Given the description of an element on the screen output the (x, y) to click on. 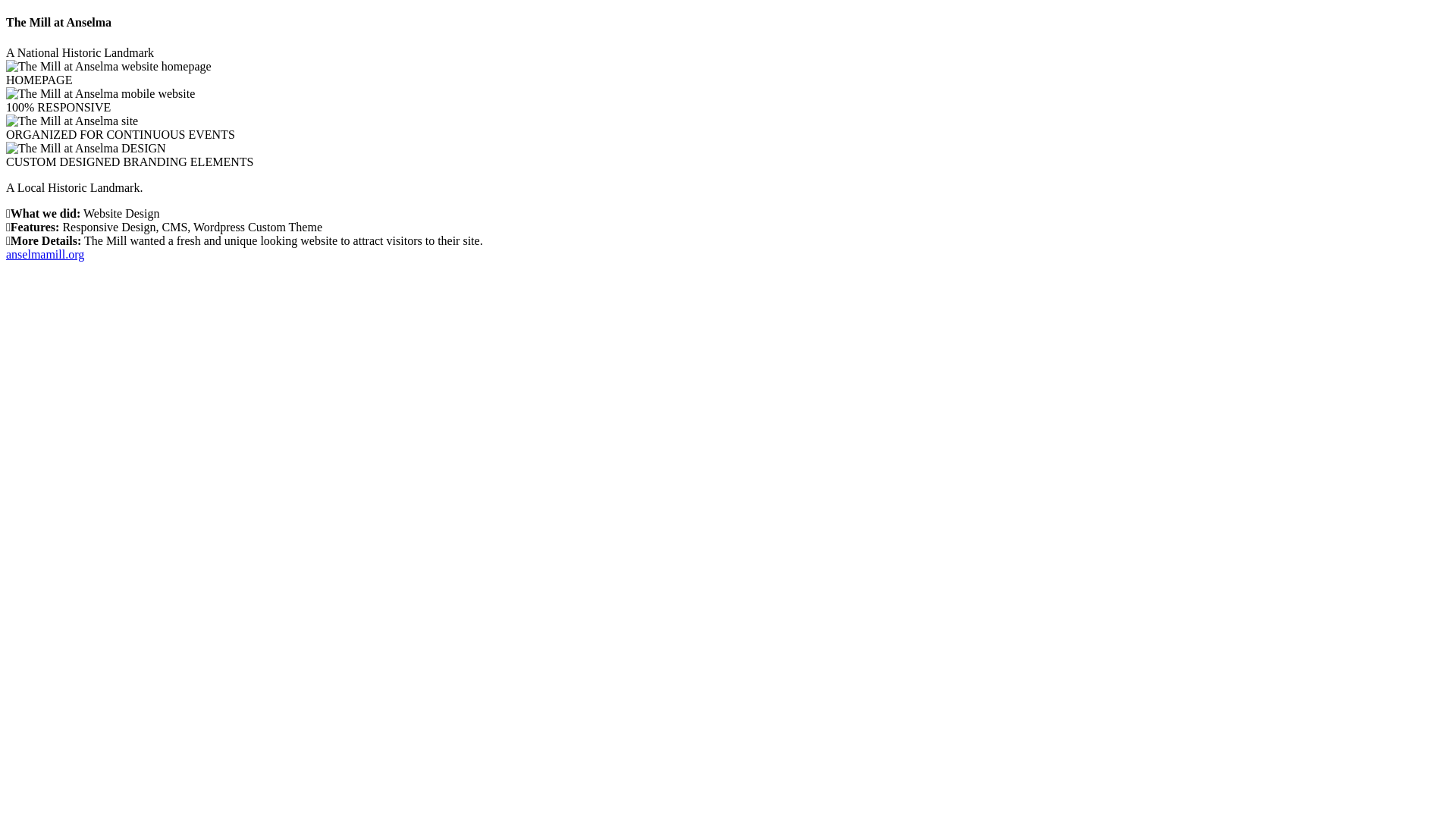
anselmamill.org Element type: text (727, 254)
